Given the description of an element on the screen output the (x, y) to click on. 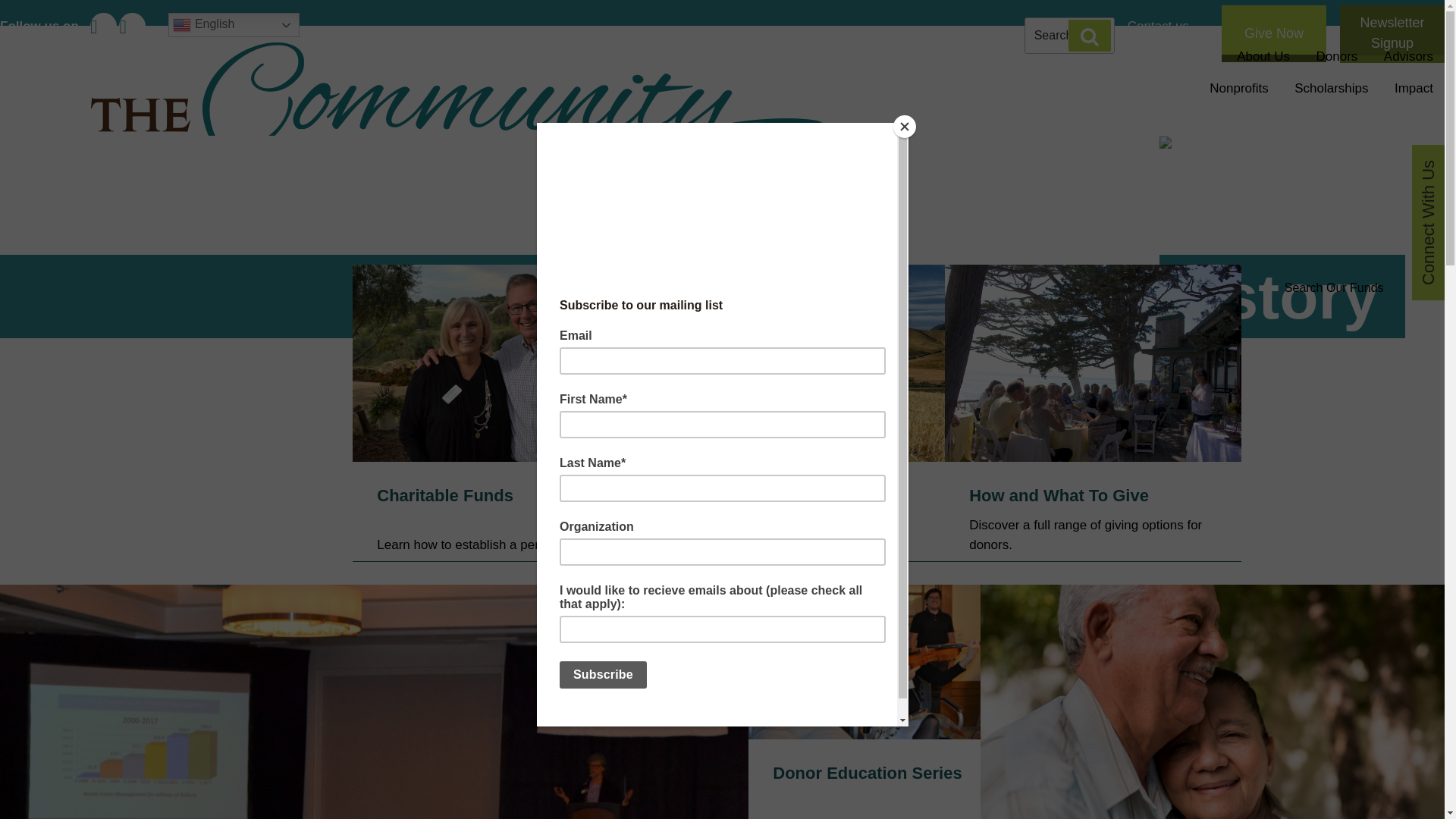
About Us (1263, 56)
Give Now (1273, 33)
English (233, 24)
Donors (1337, 56)
Search (1089, 35)
Scholarships (1330, 88)
Nonprofits (1238, 88)
Contact us (1157, 25)
